Given the description of an element on the screen output the (x, y) to click on. 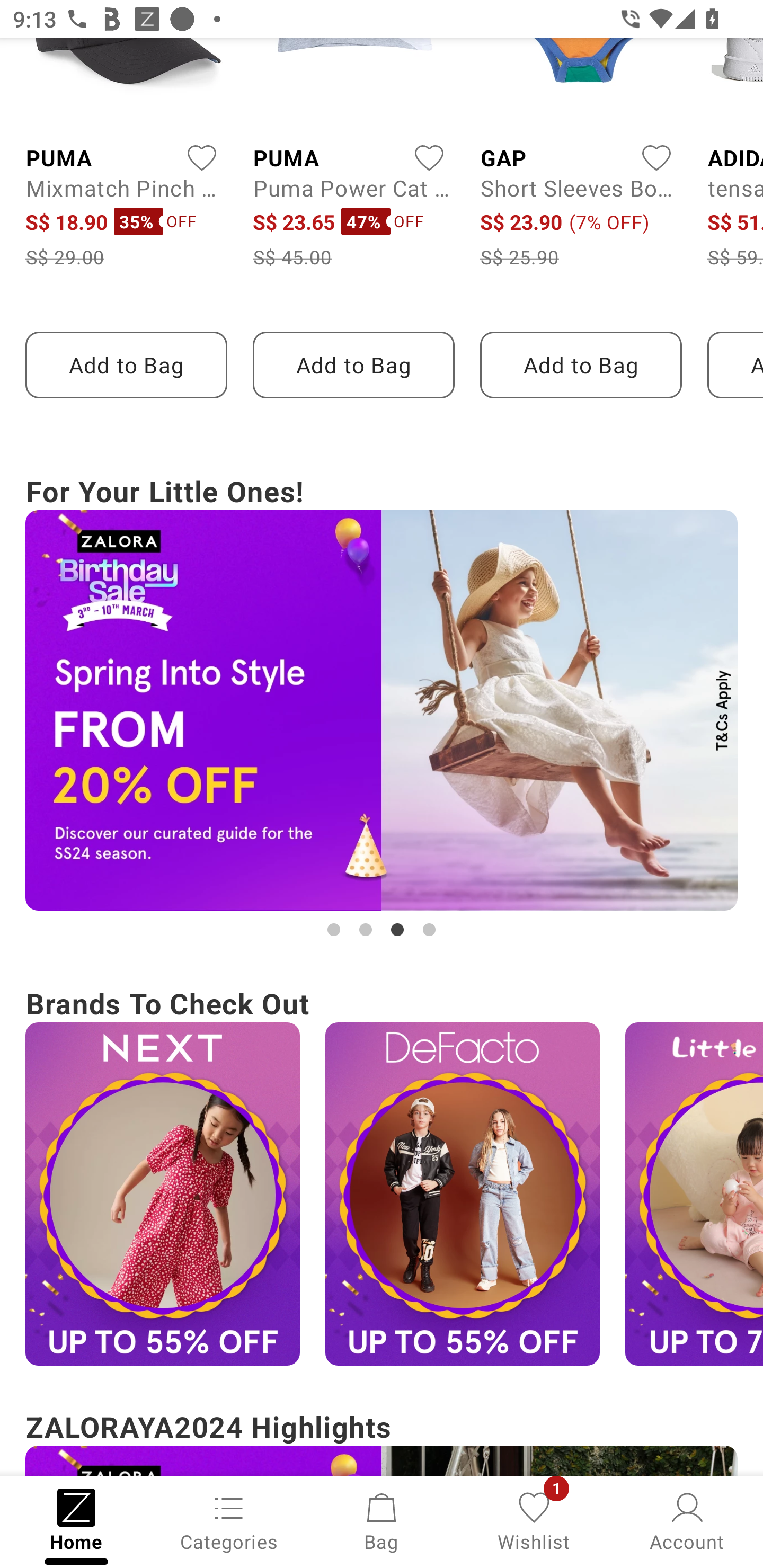
Add to Bag (126, 364)
Add to Bag (353, 364)
Add to Bag (580, 364)
For Your Little Ones! Campaign banner (381, 705)
Campaign banner (381, 710)
Campaign banner (162, 1193)
Campaign banner (462, 1193)
Campaign banner (693, 1193)
Categories (228, 1519)
Bag (381, 1519)
Wishlist, 1 new notification Wishlist (533, 1519)
Account (686, 1519)
